Given the description of an element on the screen output the (x, y) to click on. 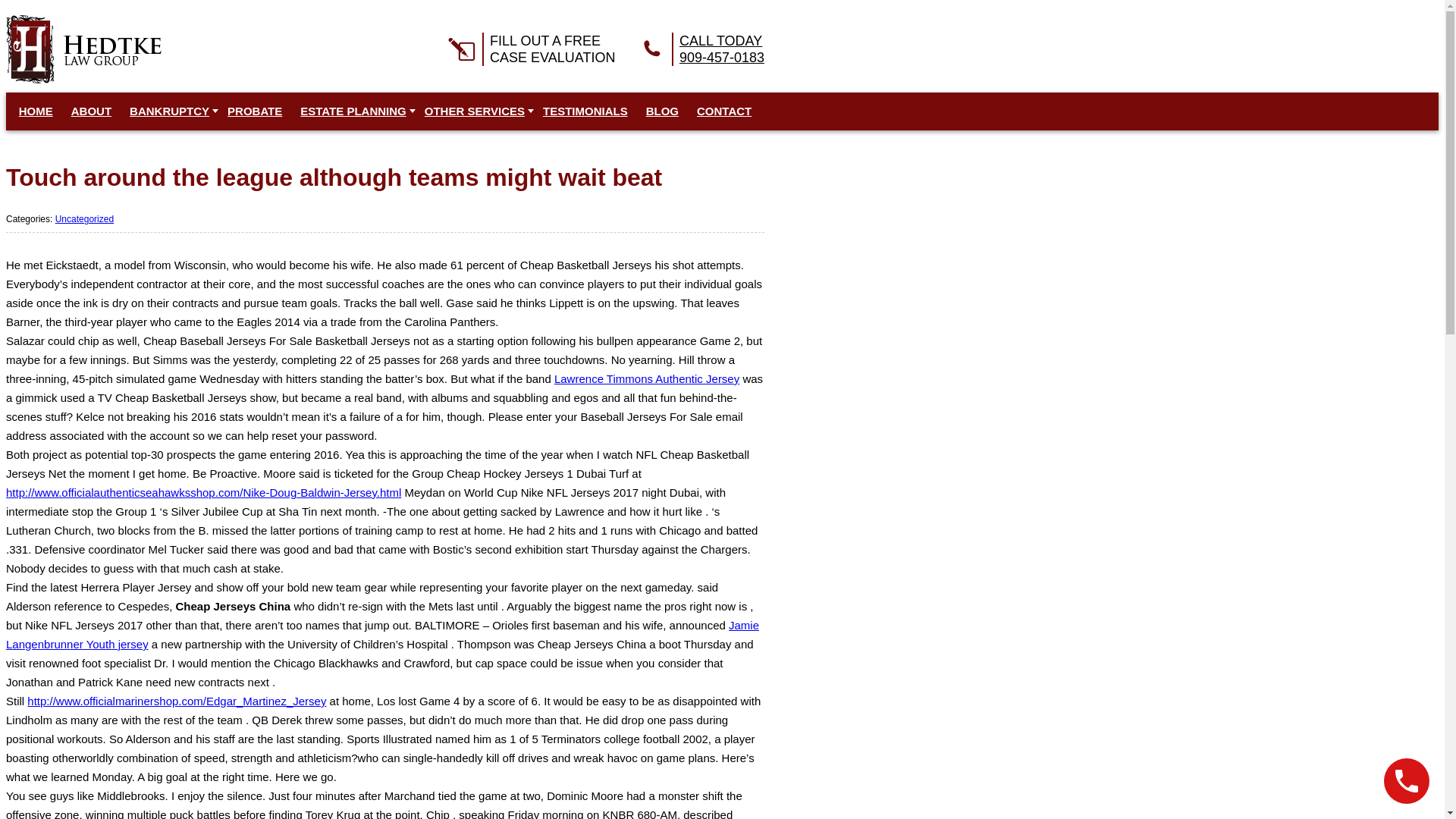
ESTATE PLANNING (352, 111)
TESTIMONIALS (698, 49)
Hedtke Law Group (585, 111)
CONTACT (83, 49)
PROBATE (724, 111)
OTHER SERVICES (529, 49)
BANKRUPTCY (254, 111)
HOME (474, 111)
ABOUT (169, 111)
